Given the description of an element on the screen output the (x, y) to click on. 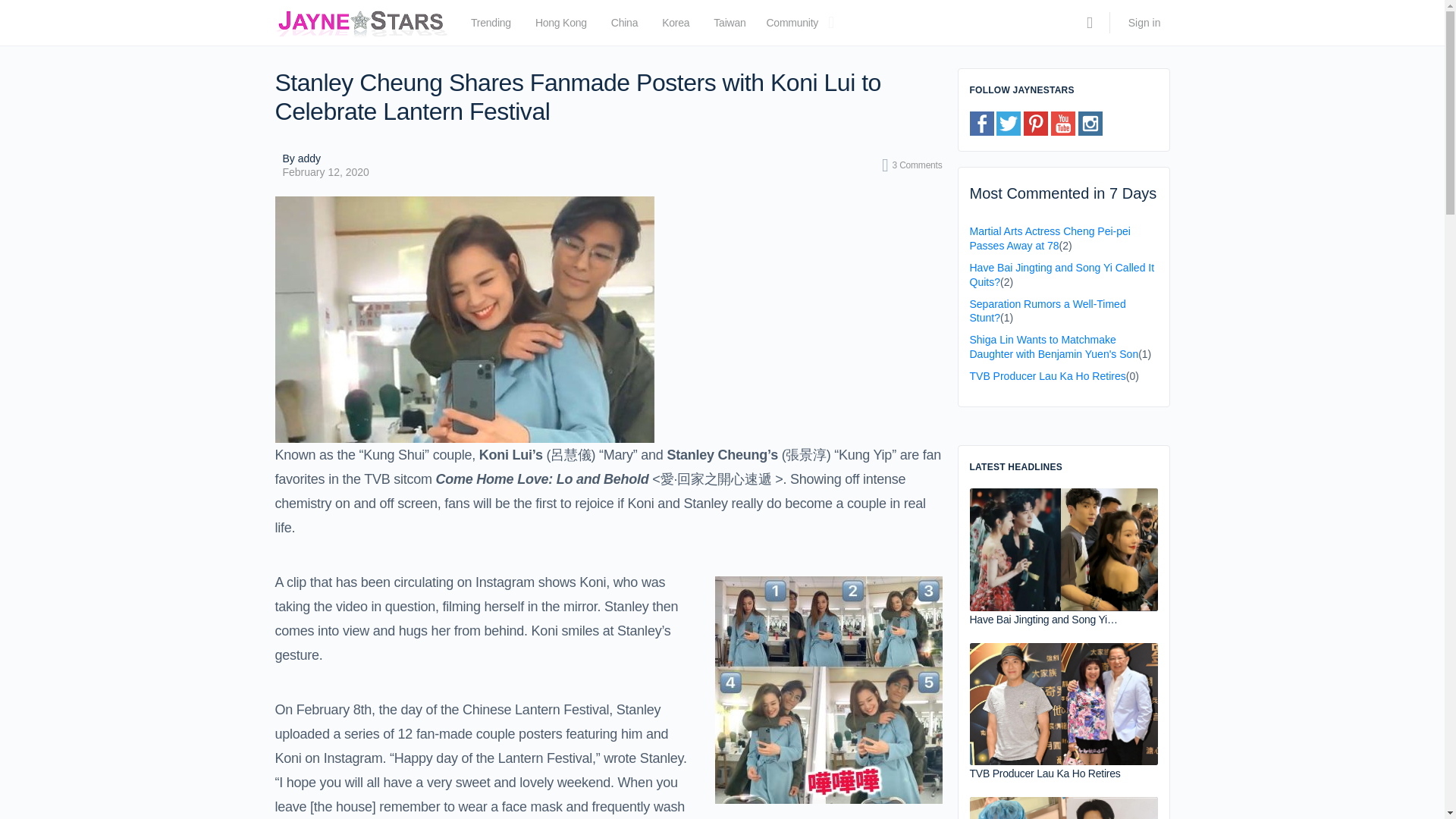
By addy (325, 158)
Hong Kong (560, 25)
February 12, 2020 (325, 172)
Facebook (980, 122)
Community (791, 25)
3 Comments (912, 165)
Pinterest (1035, 122)
Sign in (1144, 22)
Twitter (1007, 122)
